Given the description of an element on the screen output the (x, y) to click on. 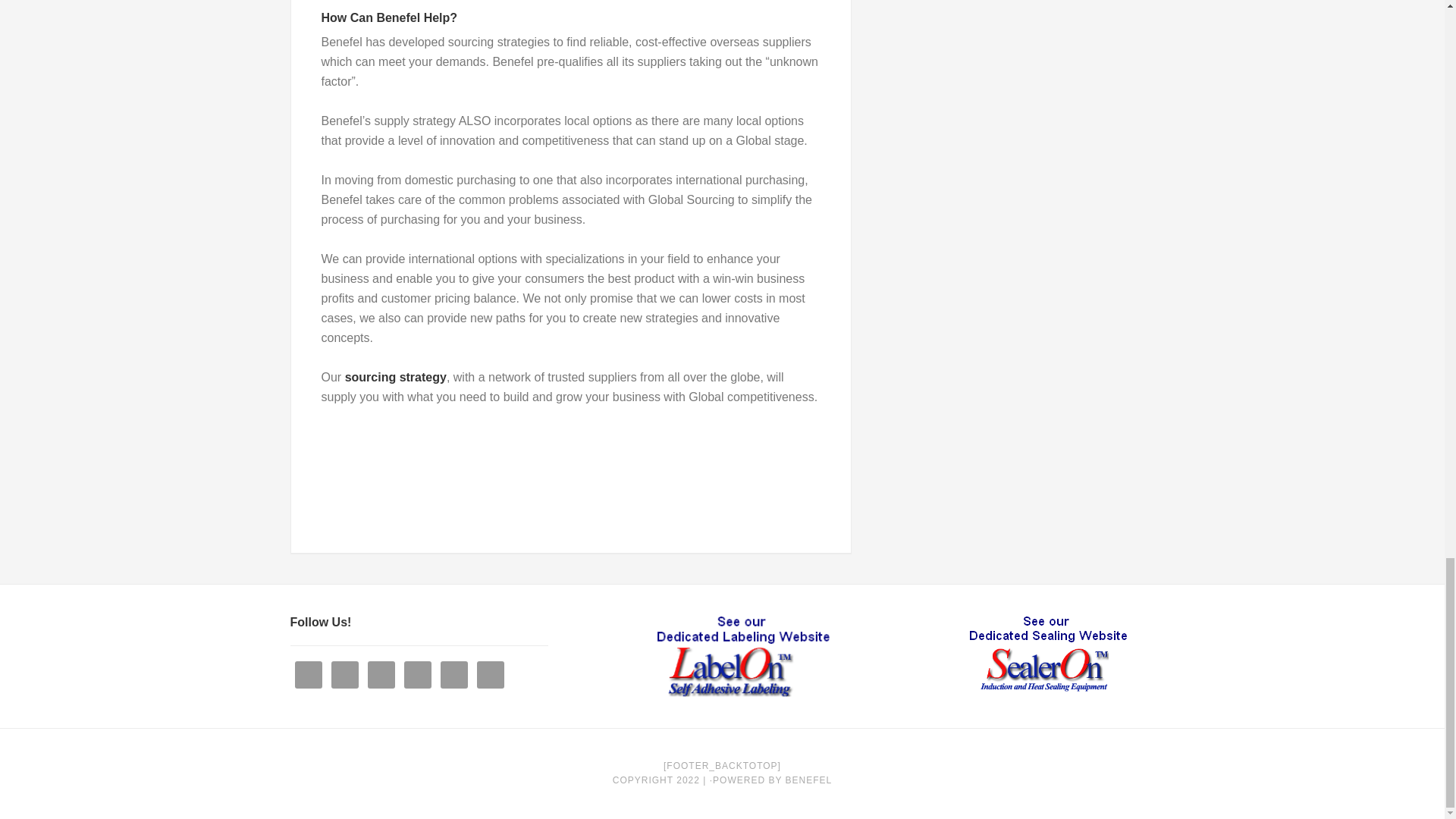
sourcing strategy (395, 377)
